Given the description of an element on the screen output the (x, y) to click on. 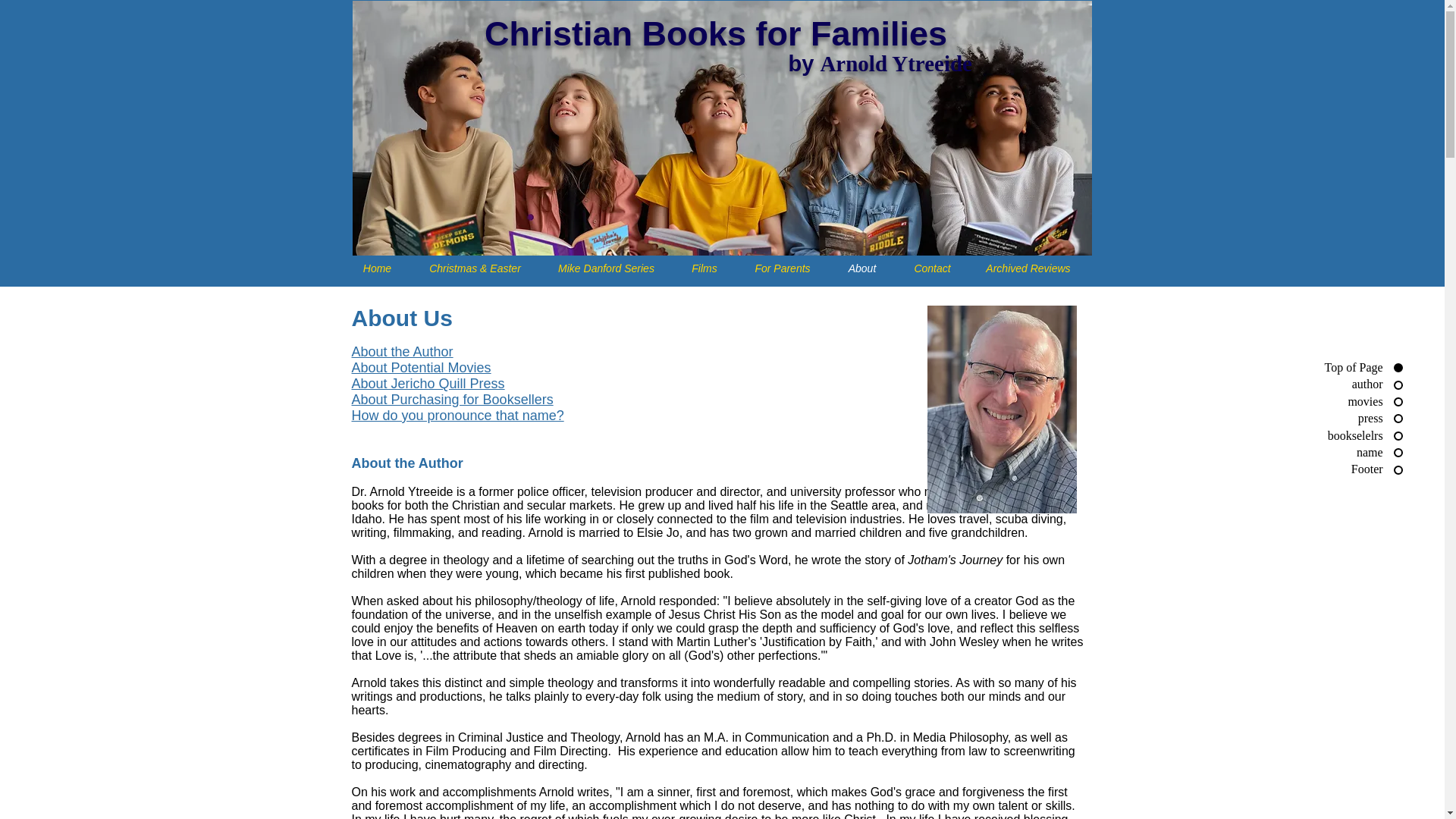
About (862, 268)
Home (376, 268)
Footer (1358, 469)
press (1358, 418)
About Potential Movies (422, 367)
movies (1358, 401)
Contact (932, 268)
About Jericho Quill Press (428, 383)
For Parents (781, 268)
name (1358, 452)
About the Author (402, 351)
About Purchasing for Booksellers (452, 399)
Films (704, 268)
Archived Reviews (1027, 268)
